Given the description of an element on the screen output the (x, y) to click on. 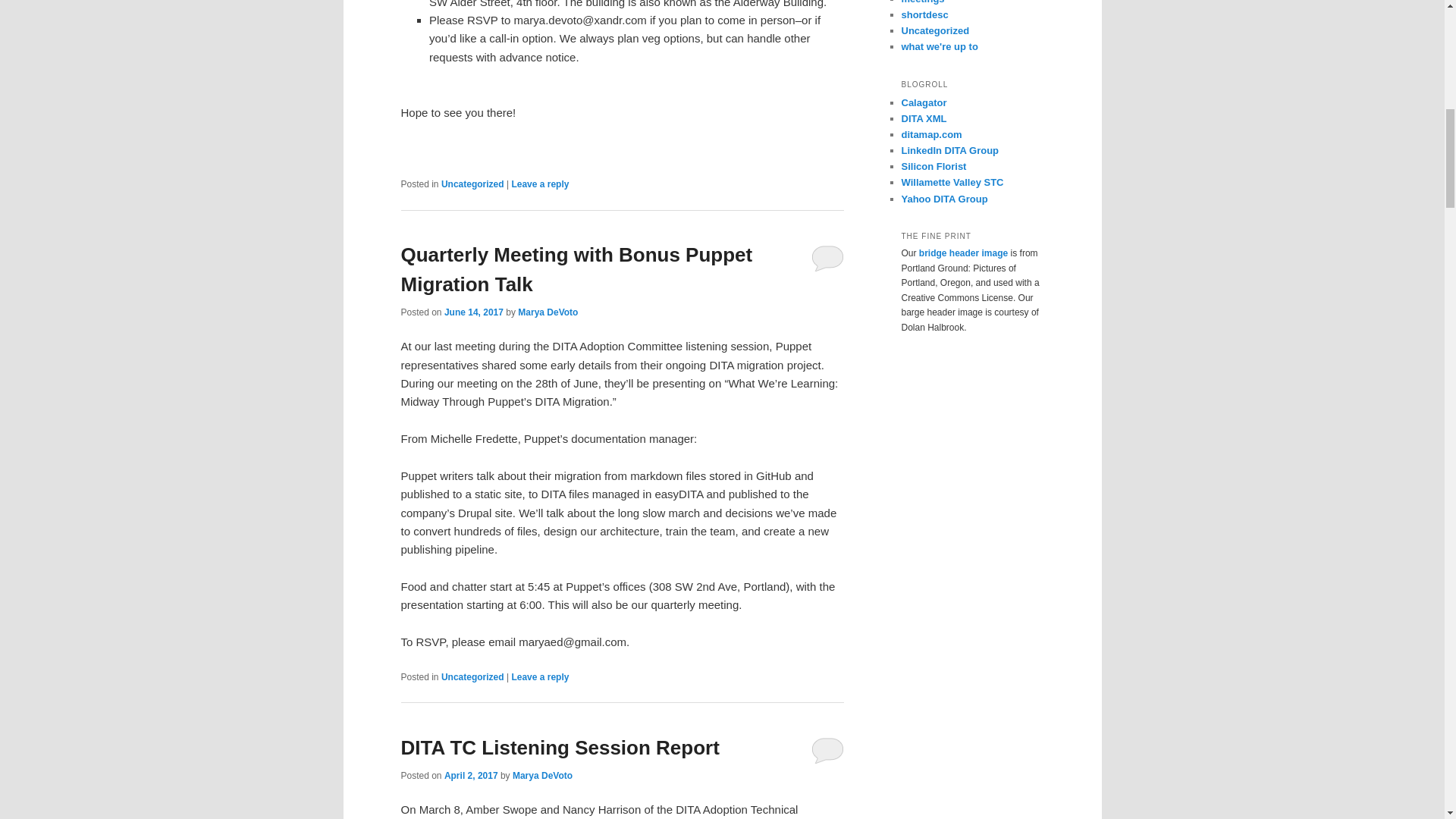
April 2, 2017 (470, 775)
Marya DeVoto (548, 312)
Quarterly Meeting with Bonus Puppet Migration Talk (576, 269)
DITA TC Listening Session Report (559, 747)
4:37 pm (473, 312)
Uncategorized (472, 184)
View all posts by Marya DeVoto (542, 775)
2:28 pm (470, 775)
Marya DeVoto (542, 775)
June 14, 2017 (473, 312)
Leave a reply (540, 184)
View all posts by Marya DeVoto (548, 312)
Leave a reply (540, 676)
Uncategorized (472, 676)
